Given the description of an element on the screen output the (x, y) to click on. 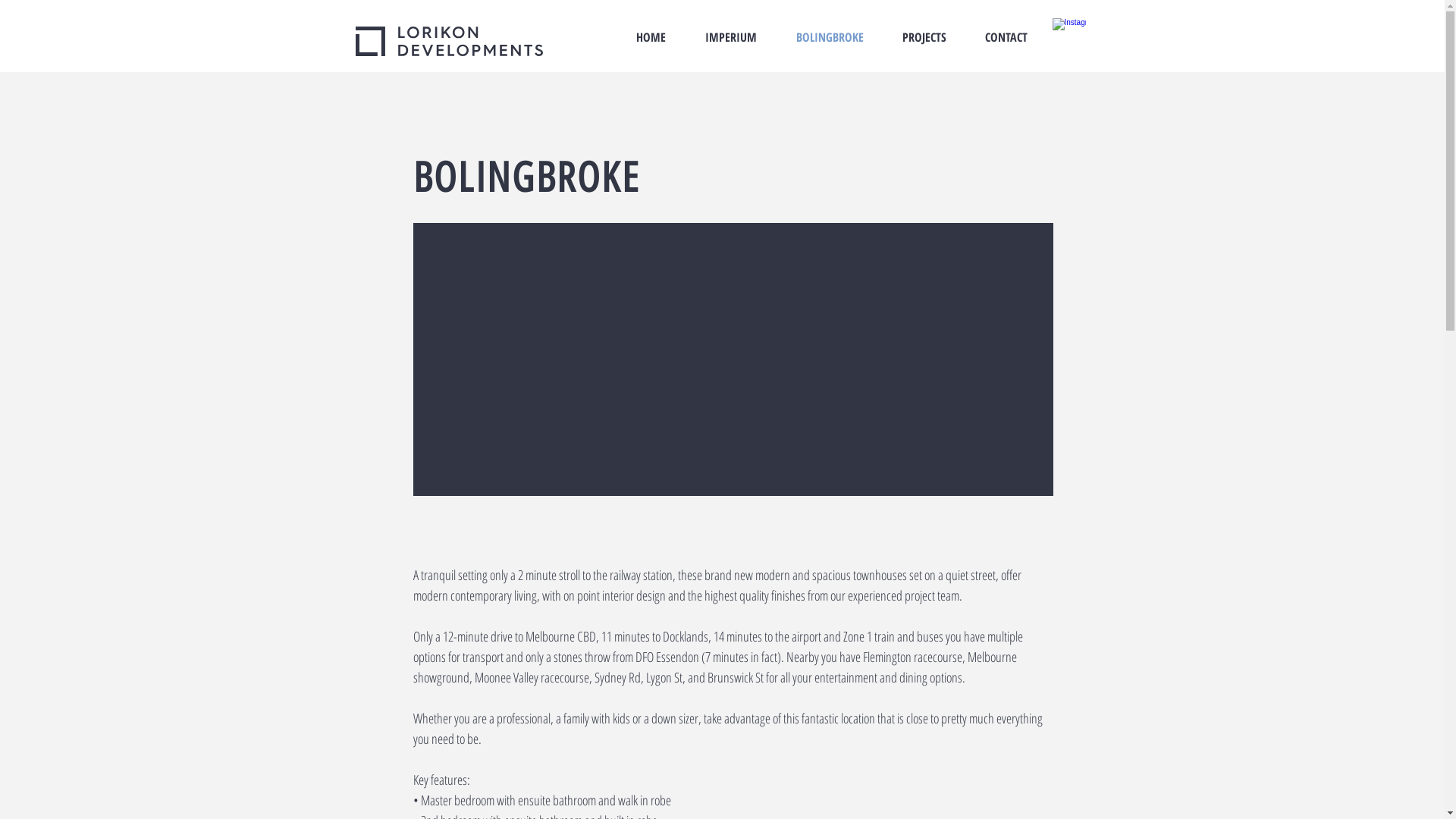
HOME Element type: text (649, 37)
CONTACT Element type: text (1006, 37)
IMPERIUM Element type: text (730, 37)
BOLINGBROKE Element type: text (829, 37)
PROJECTS Element type: text (923, 37)
BOLINGBROKE Element type: text (526, 177)
